Given the description of an element on the screen output the (x, y) to click on. 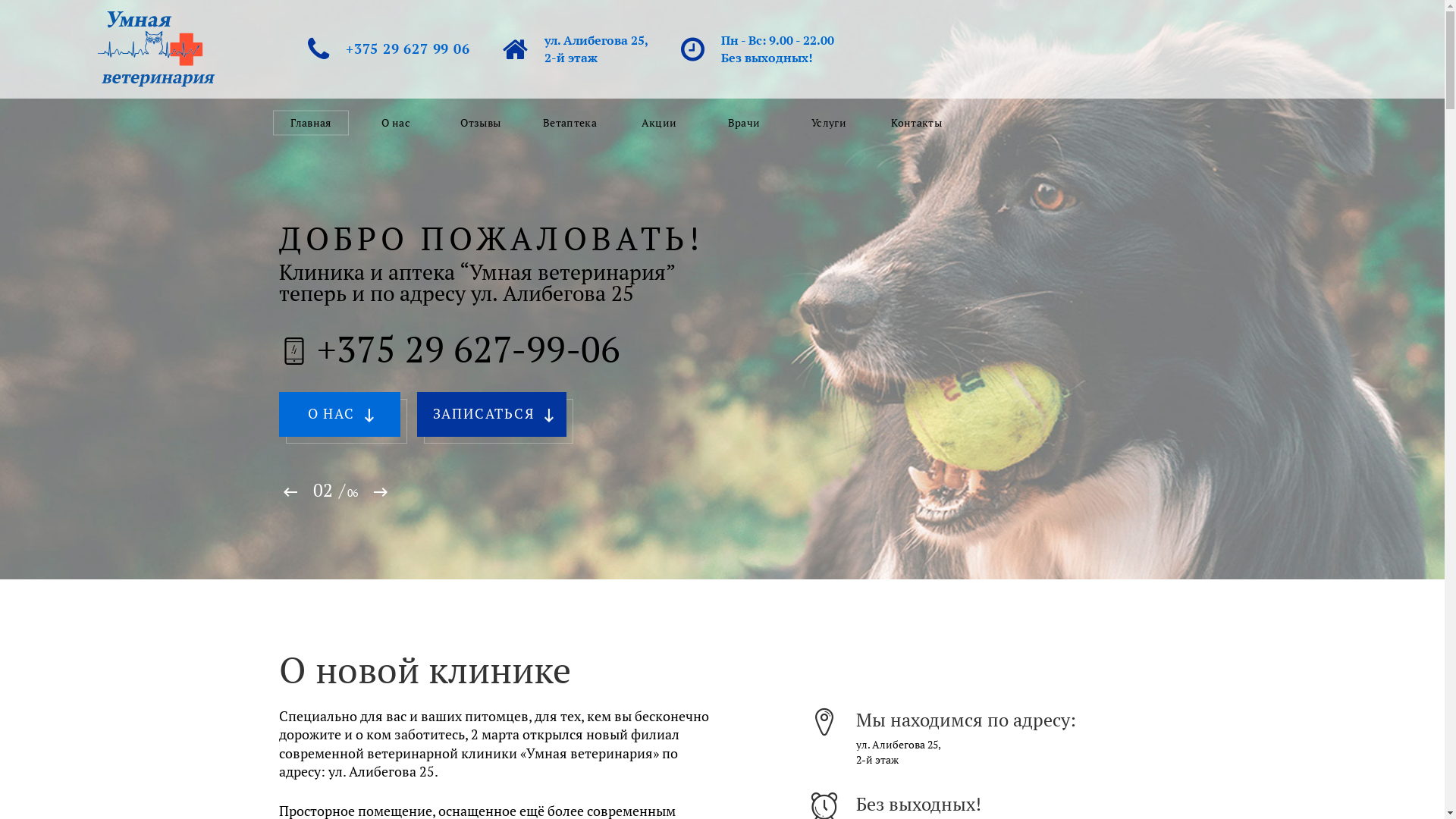
+375 29 627 99 06 Element type: text (407, 48)
+375 29 627-99-06 Element type: text (468, 348)
